Given the description of an element on the screen output the (x, y) to click on. 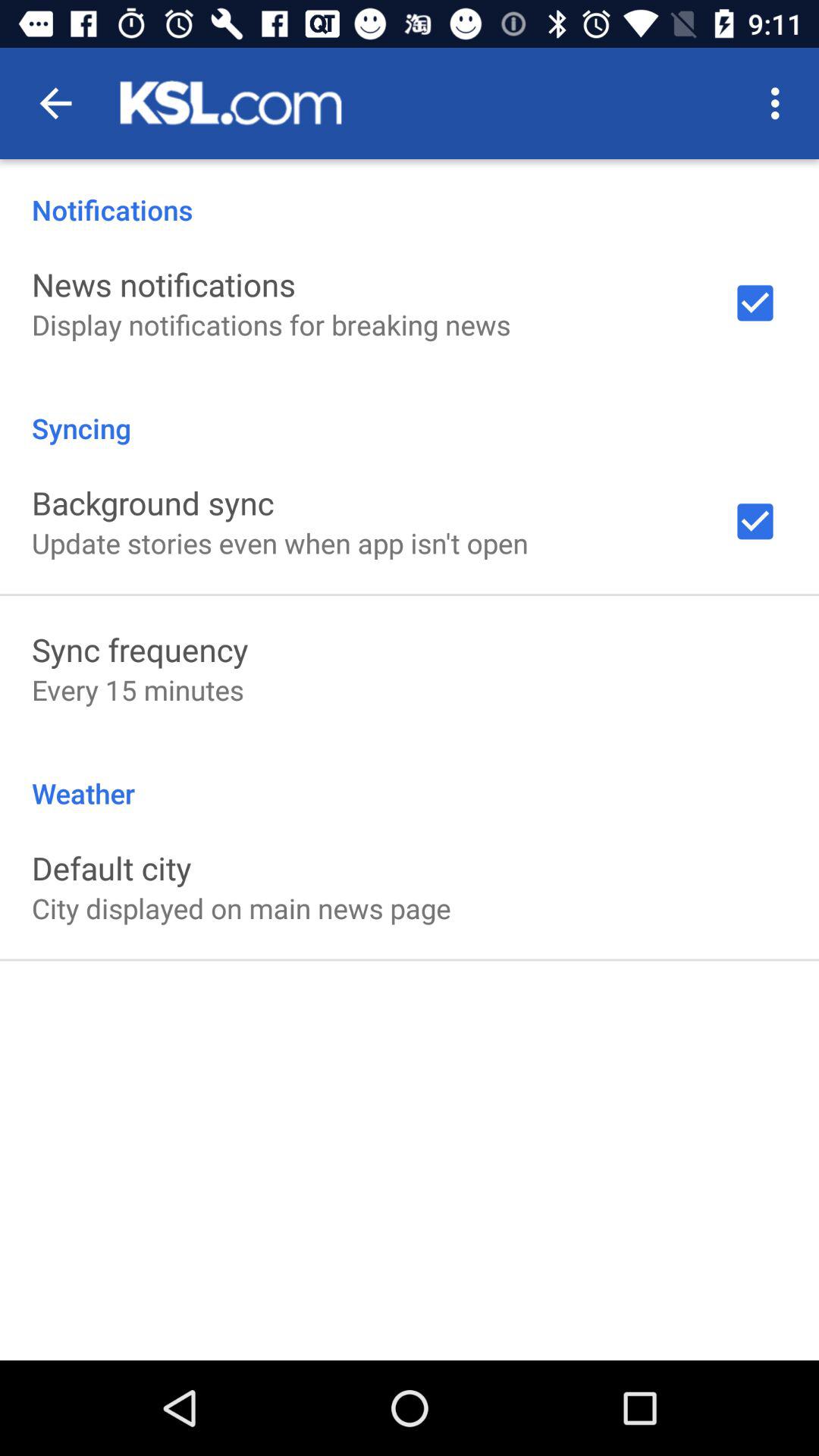
open the update stories even icon (279, 542)
